Given the description of an element on the screen output the (x, y) to click on. 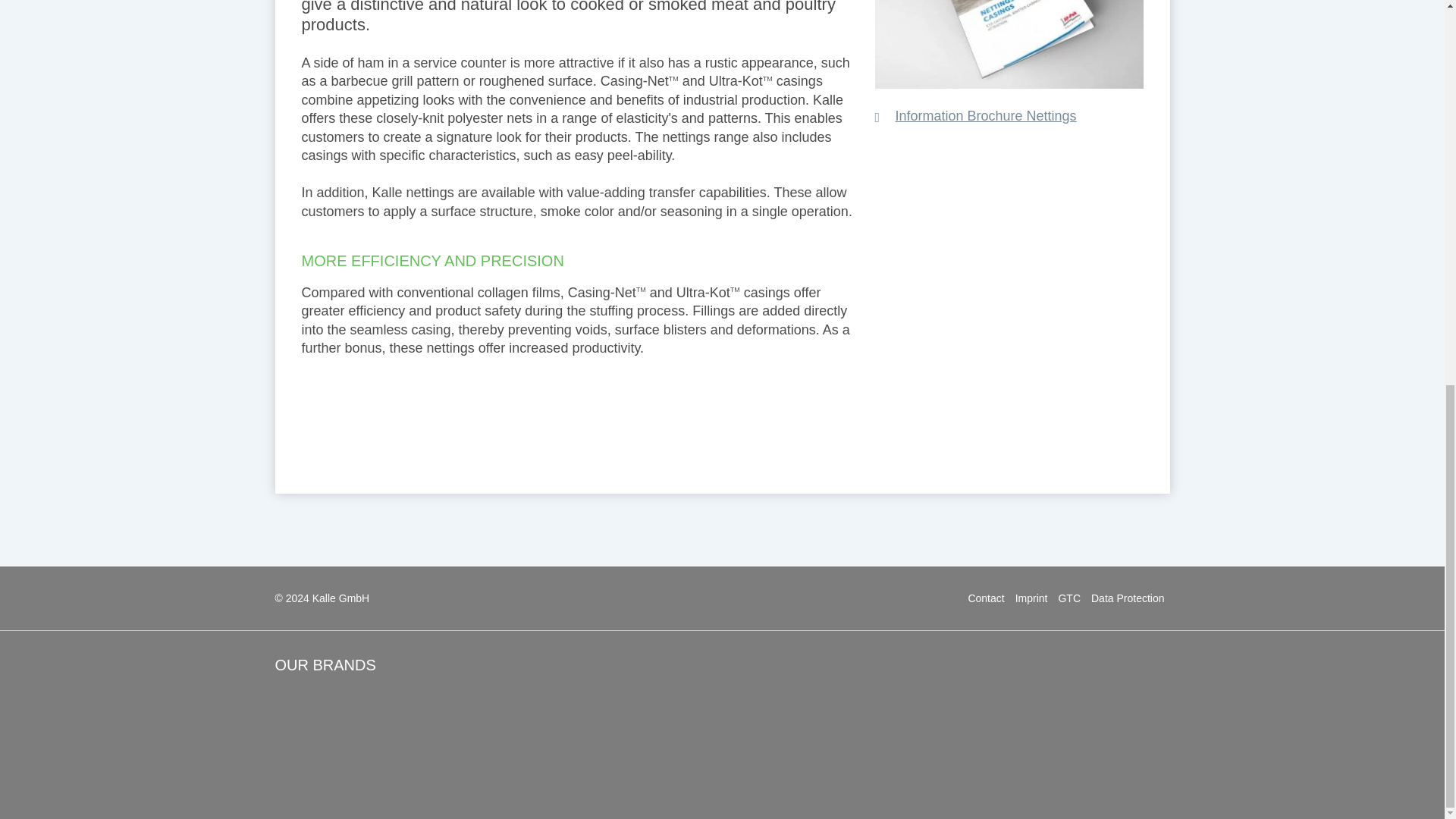
Initiates file download (976, 116)
